Given the description of an element on the screen output the (x, y) to click on. 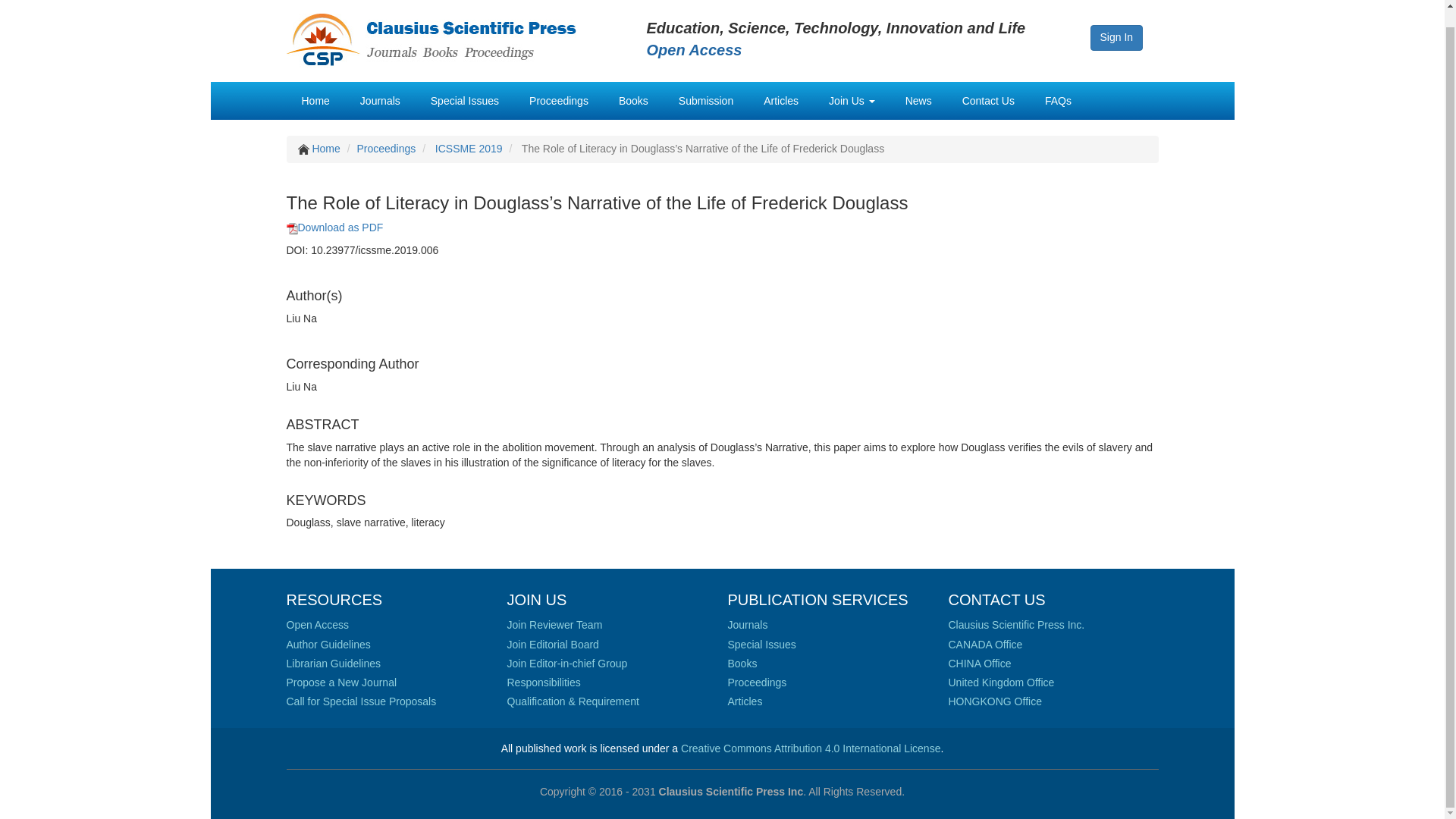
Contact Us (988, 100)
Journals (748, 624)
Join Reviewer Team (554, 624)
CHINA Office (978, 663)
Home (325, 148)
Home (314, 100)
United Kingdom Office (1000, 682)
Proceedings (558, 100)
CANADA Office (984, 644)
Join Us (851, 100)
